Given the description of an element on the screen output the (x, y) to click on. 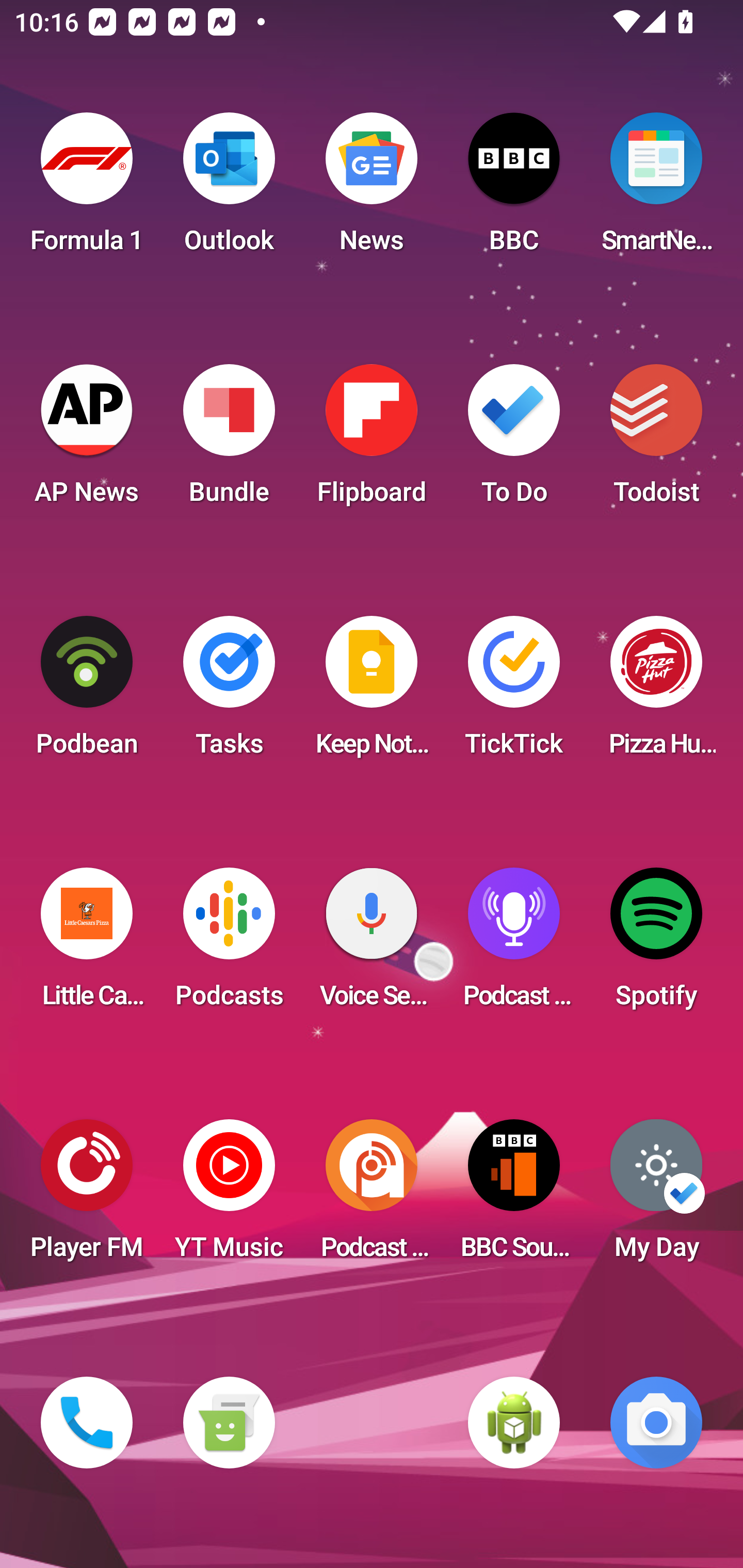
Formula 1 (86, 188)
Outlook (228, 188)
News (371, 188)
BBC (513, 188)
SmartNews (656, 188)
AP News (86, 440)
Bundle (228, 440)
Flipboard (371, 440)
To Do (513, 440)
Todoist (656, 440)
Podbean (86, 692)
Tasks (228, 692)
Keep Notes (371, 692)
TickTick (513, 692)
Pizza Hut HK & Macau (656, 692)
Little Caesars Pizza (86, 943)
Podcasts (228, 943)
Voice Search (371, 943)
Podcast Player (513, 943)
Spotify (656, 943)
Player FM (86, 1195)
YT Music (228, 1195)
Podcast Addict (371, 1195)
BBC Sounds (513, 1195)
My Day (656, 1195)
Phone (86, 1422)
Messaging (228, 1422)
WebView Browser Tester (513, 1422)
Camera (656, 1422)
